Given the description of an element on the screen output the (x, y) to click on. 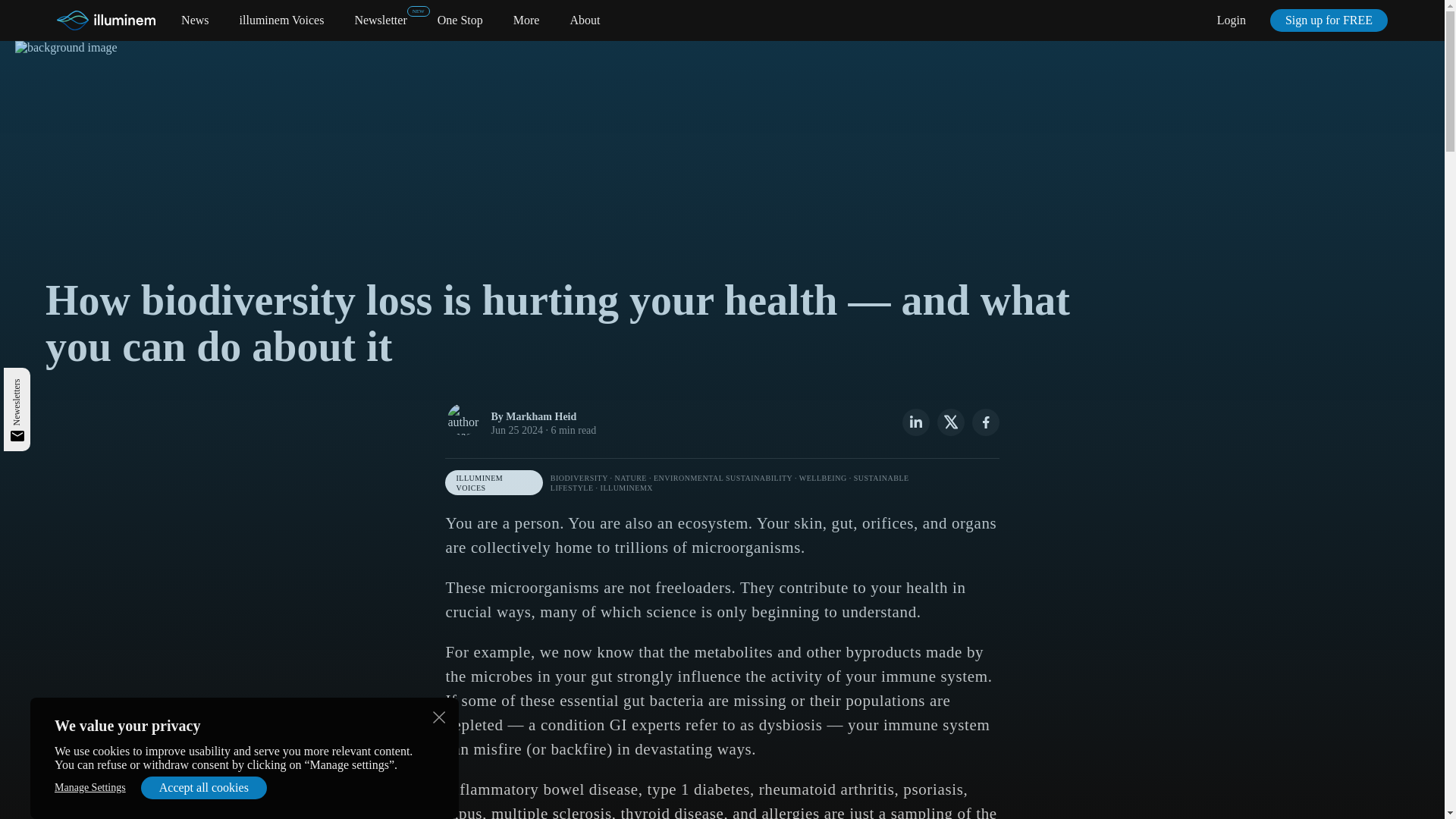
Accept all cookies (203, 787)
ILLUMINEM VOICES (493, 482)
One Stop (460, 19)
SUSTAINABLE LIFESTYLE (729, 482)
ILLUMINEMX (625, 488)
ENVIRONMENTAL SUSTAINABILITY (722, 477)
Markham Heid (540, 416)
Login (1231, 20)
Manage Settings (90, 787)
About (584, 19)
WELLBEING (823, 477)
News (194, 19)
illuminem Voices (282, 19)
BIODIVERSITY (579, 477)
Newesletters (34, 383)
